Given the description of an element on the screen output the (x, y) to click on. 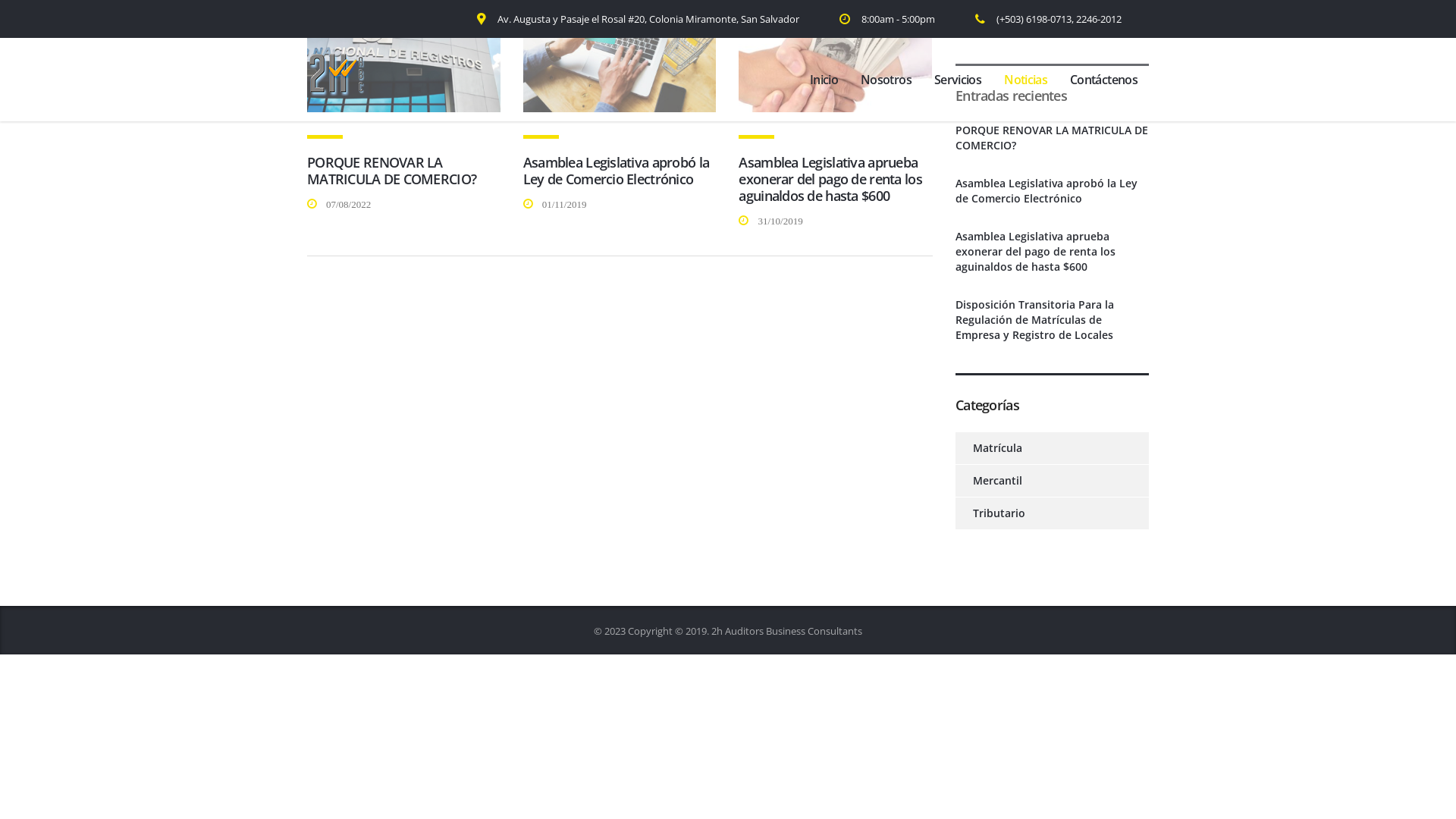
PORQUE RENOVAR LA MATRICULA DE COMERCIO? Element type: text (391, 170)
Noticias Element type: text (1025, 79)
Mercantil Element type: text (988, 480)
PORQUE RENOVAR LA MATRICULA DE COMERCIO? Element type: text (1051, 137)
Servicios Element type: text (957, 79)
Nosotros Element type: text (885, 79)
Inicio Element type: text (823, 79)
Tributario Element type: text (990, 513)
